Given the description of an element on the screen output the (x, y) to click on. 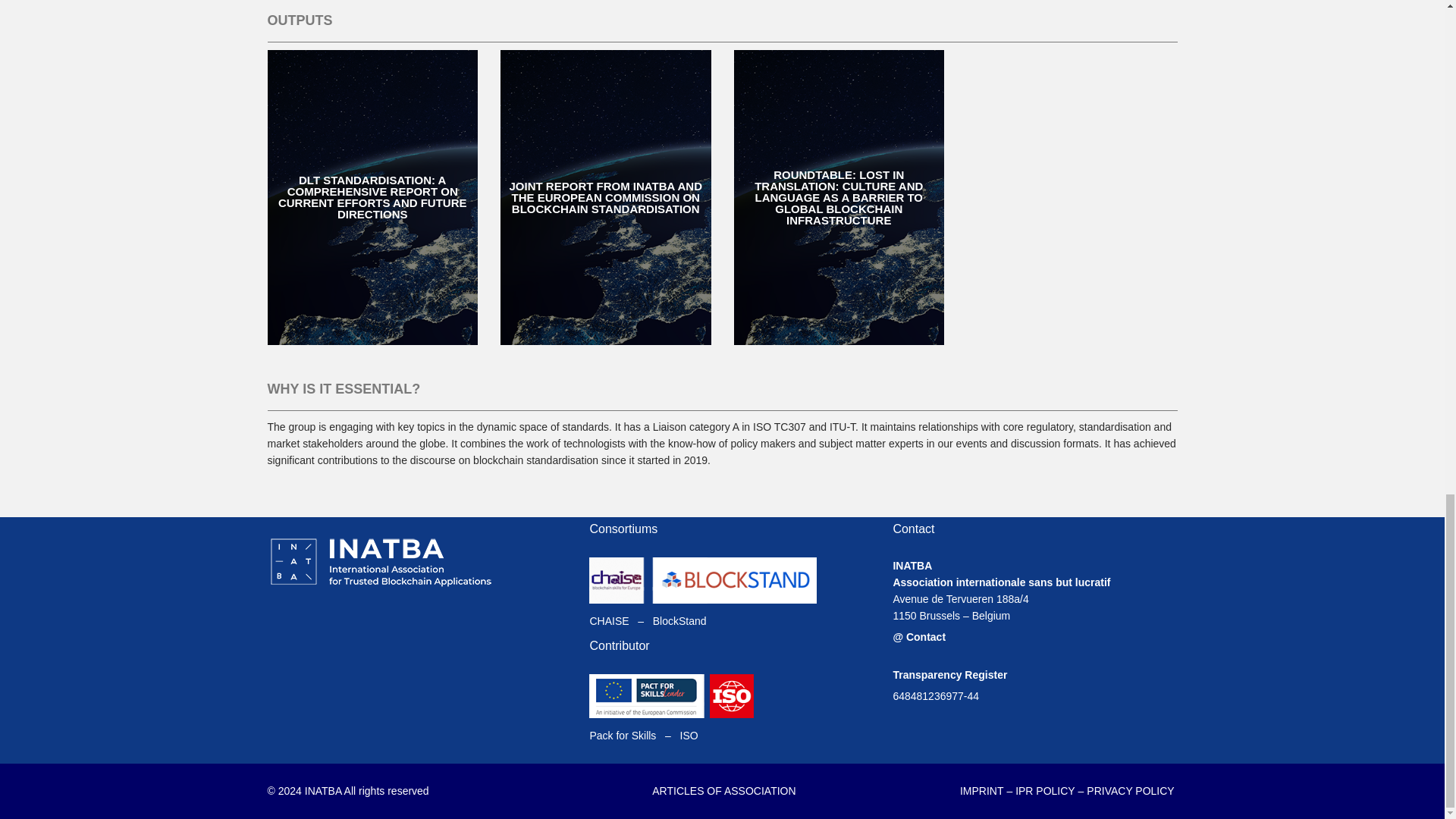
Form 0 (412, 680)
